Given the description of an element on the screen output the (x, y) to click on. 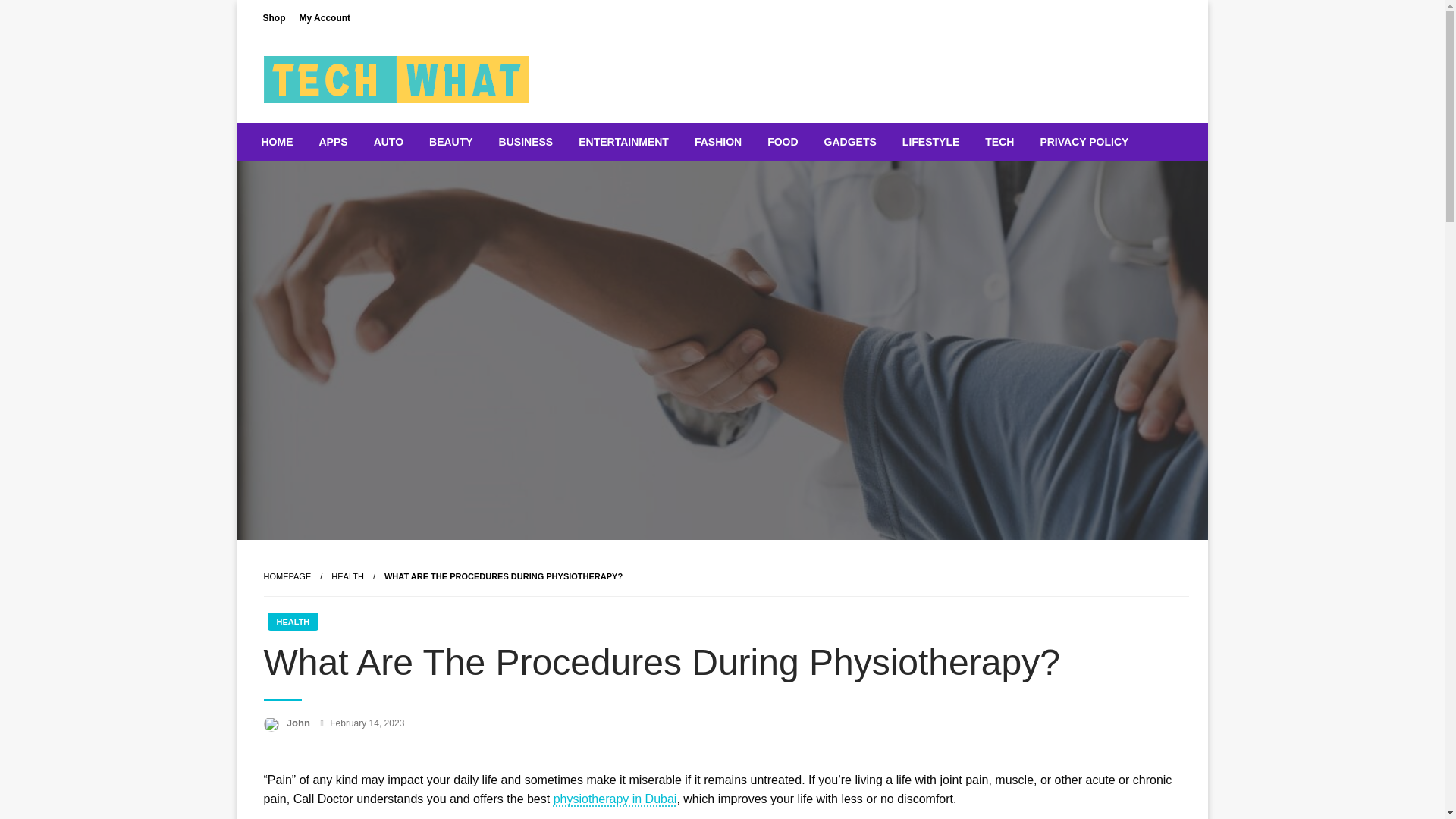
John (299, 722)
What Are The Procedures During Physiotherapy? (503, 575)
PRIVACY POLICY (1083, 141)
GADGETS (849, 141)
BEAUTY (451, 141)
HEALTH (347, 575)
John (299, 722)
AUTO (388, 141)
Shop (274, 17)
The Tech What (365, 134)
